Given the description of an element on the screen output the (x, y) to click on. 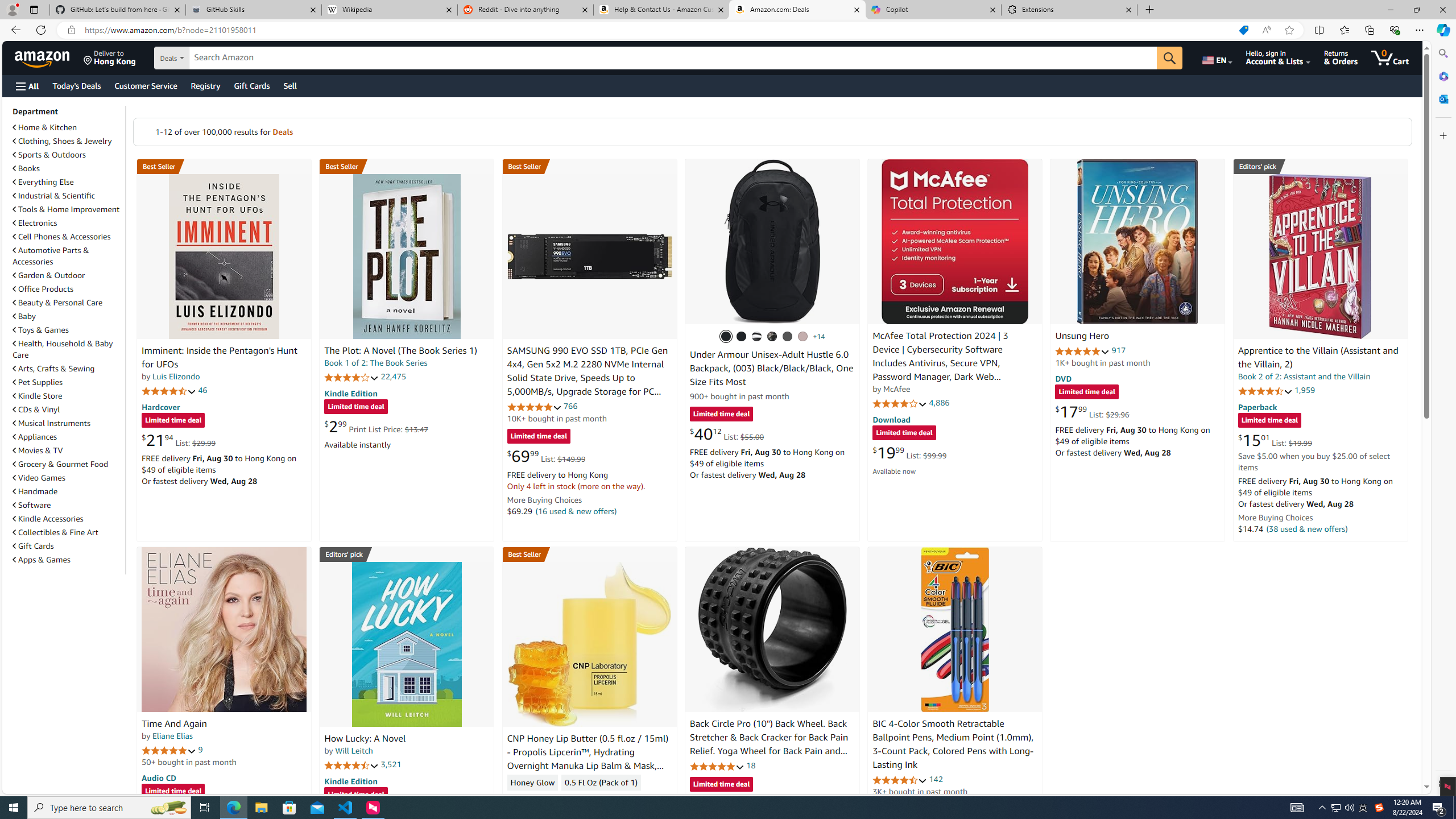
Tools & Home Improvement (66, 208)
$40.12 List: $55.00 (726, 433)
Electronics (67, 222)
Apps & Games (41, 559)
Software (67, 505)
Unsung Hero (1082, 336)
766 (570, 406)
22,475 (393, 376)
GitHub Skills (253, 9)
Unsung Hero (1137, 241)
Side bar (1443, 418)
Returns & Orders (1340, 57)
Musical Instruments (51, 422)
